Given the description of an element on the screen output the (x, y) to click on. 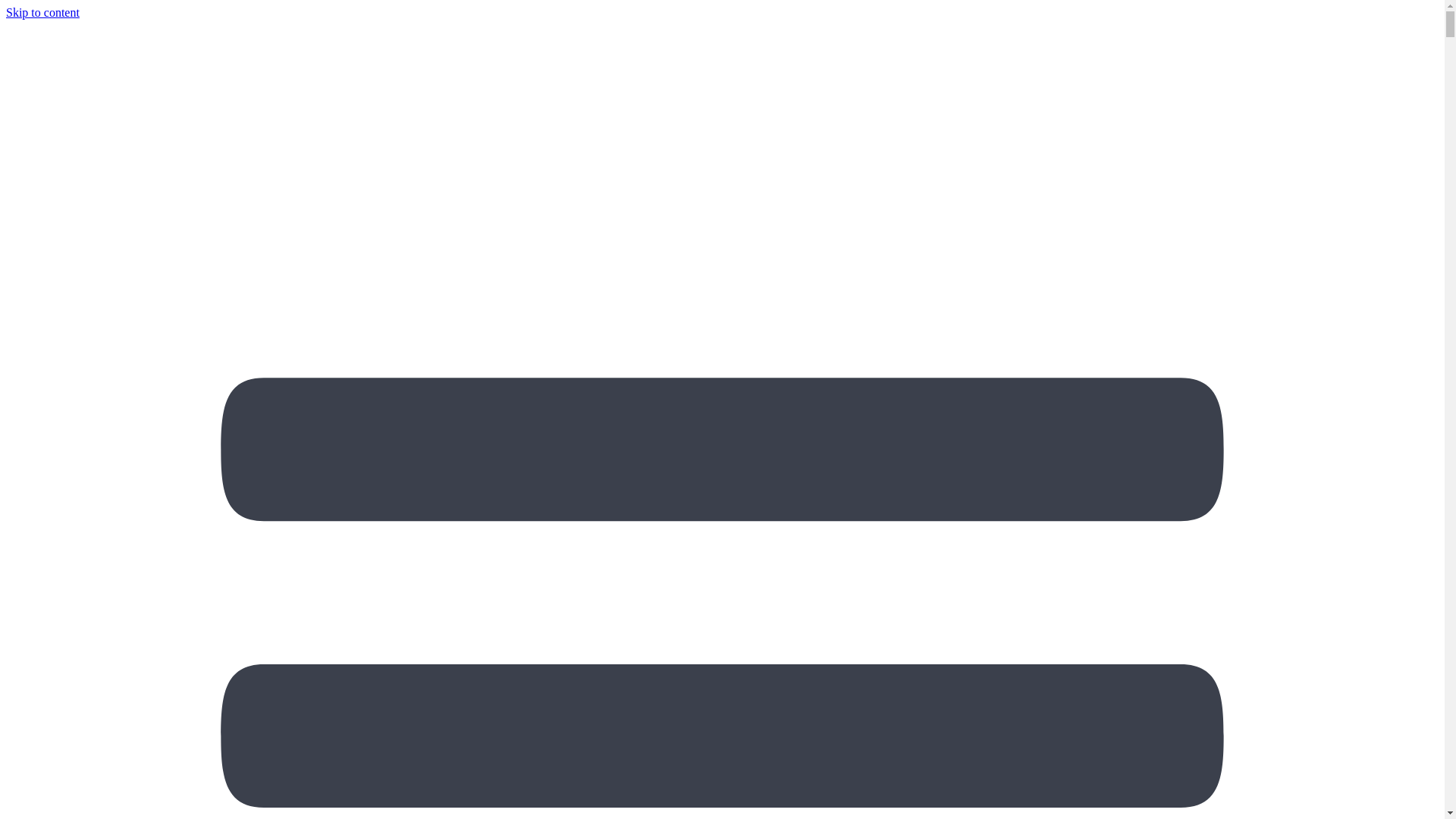
Skip to content (42, 11)
